Given the description of an element on the screen output the (x, y) to click on. 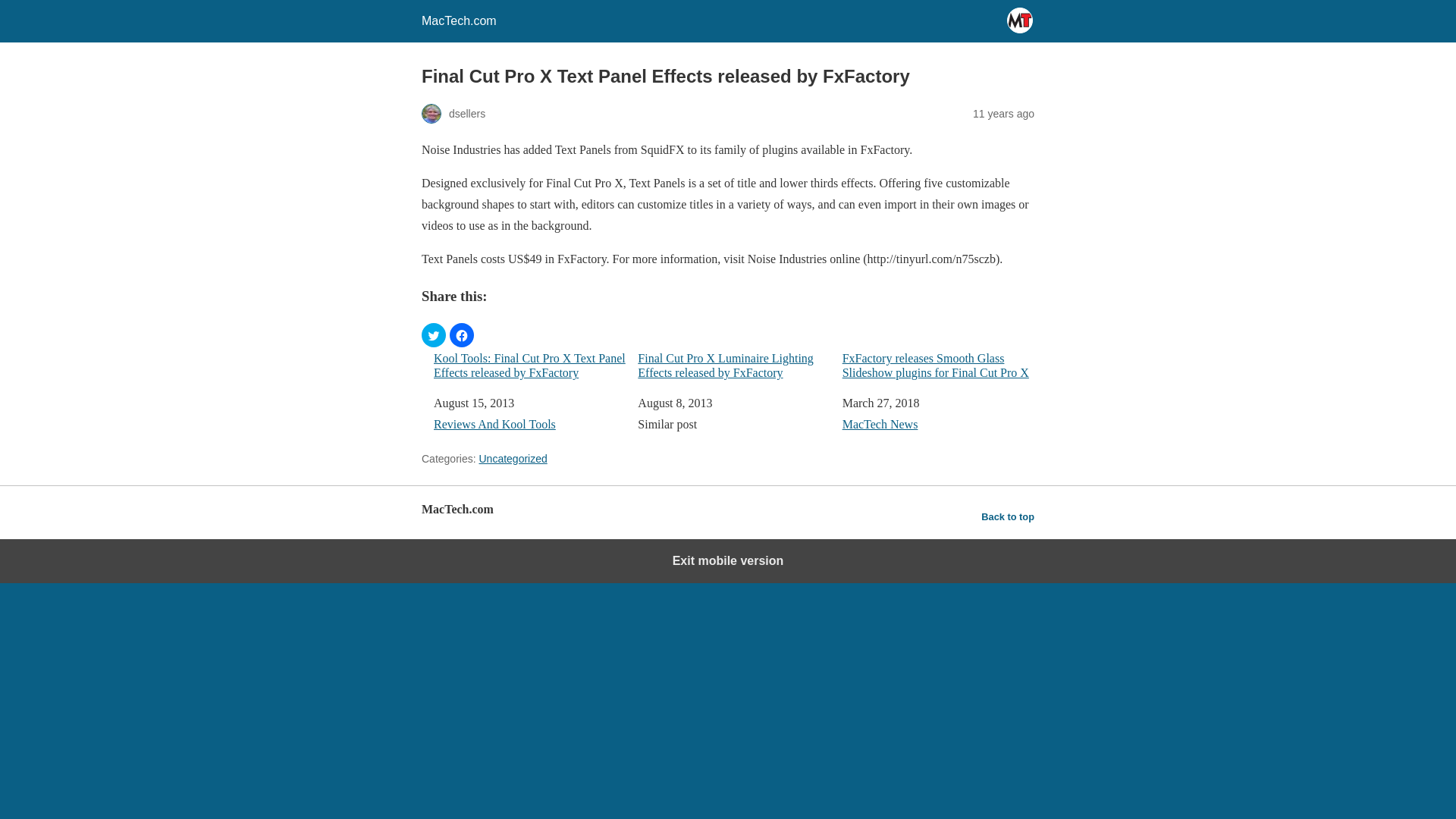
Click to share on Twitter (433, 334)
MacTech.com (459, 20)
Click to share on Facebook (461, 334)
Reviews And Kool Tools (494, 423)
Back to top (1007, 516)
MacTech News (880, 423)
Uncategorized (513, 458)
